Given the description of an element on the screen output the (x, y) to click on. 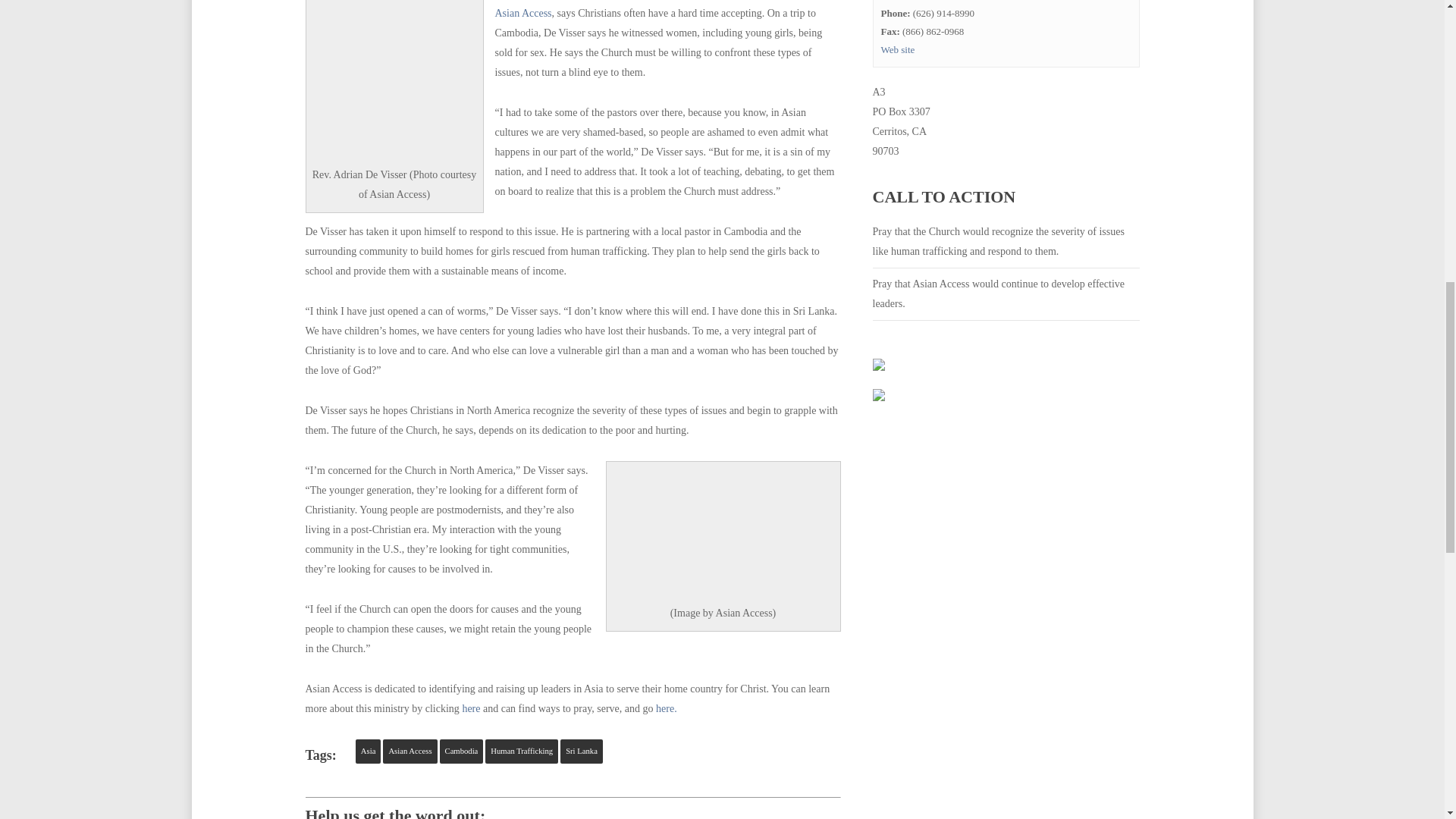
here. (666, 708)
Cambodia (461, 751)
Human Trafficking (520, 751)
Asian Access (409, 751)
Asia (368, 751)
Sri Lanka (581, 751)
here (470, 708)
Asian Access (523, 12)
